Given the description of an element on the screen output the (x, y) to click on. 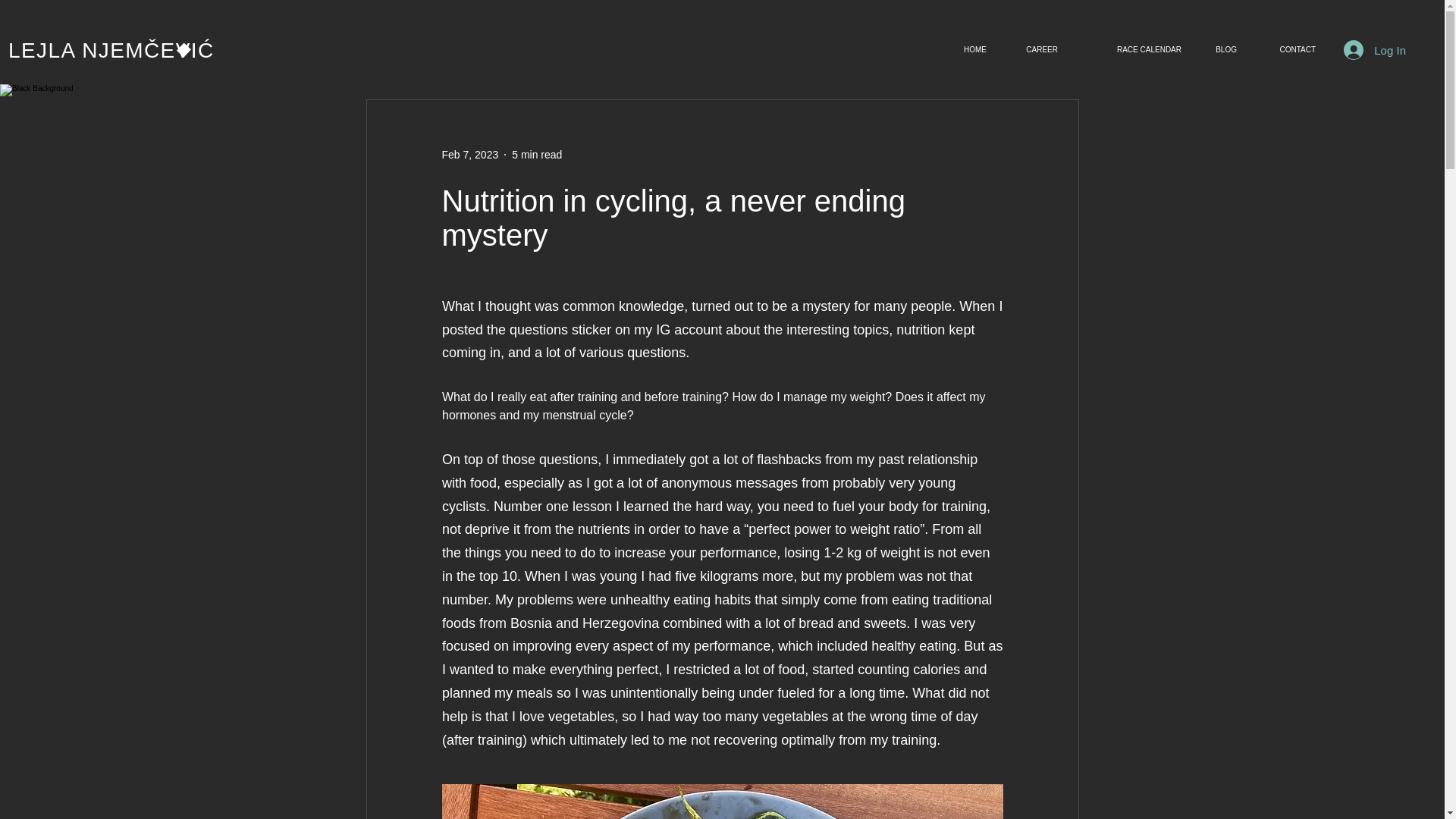
Log In (1374, 50)
HOME (968, 49)
BLOG (1219, 49)
CONTACT (1286, 49)
5 min read (537, 154)
Feb 7, 2023 (469, 154)
RACE CALENDAR (1130, 49)
CAREER (1032, 49)
